Given the description of an element on the screen output the (x, y) to click on. 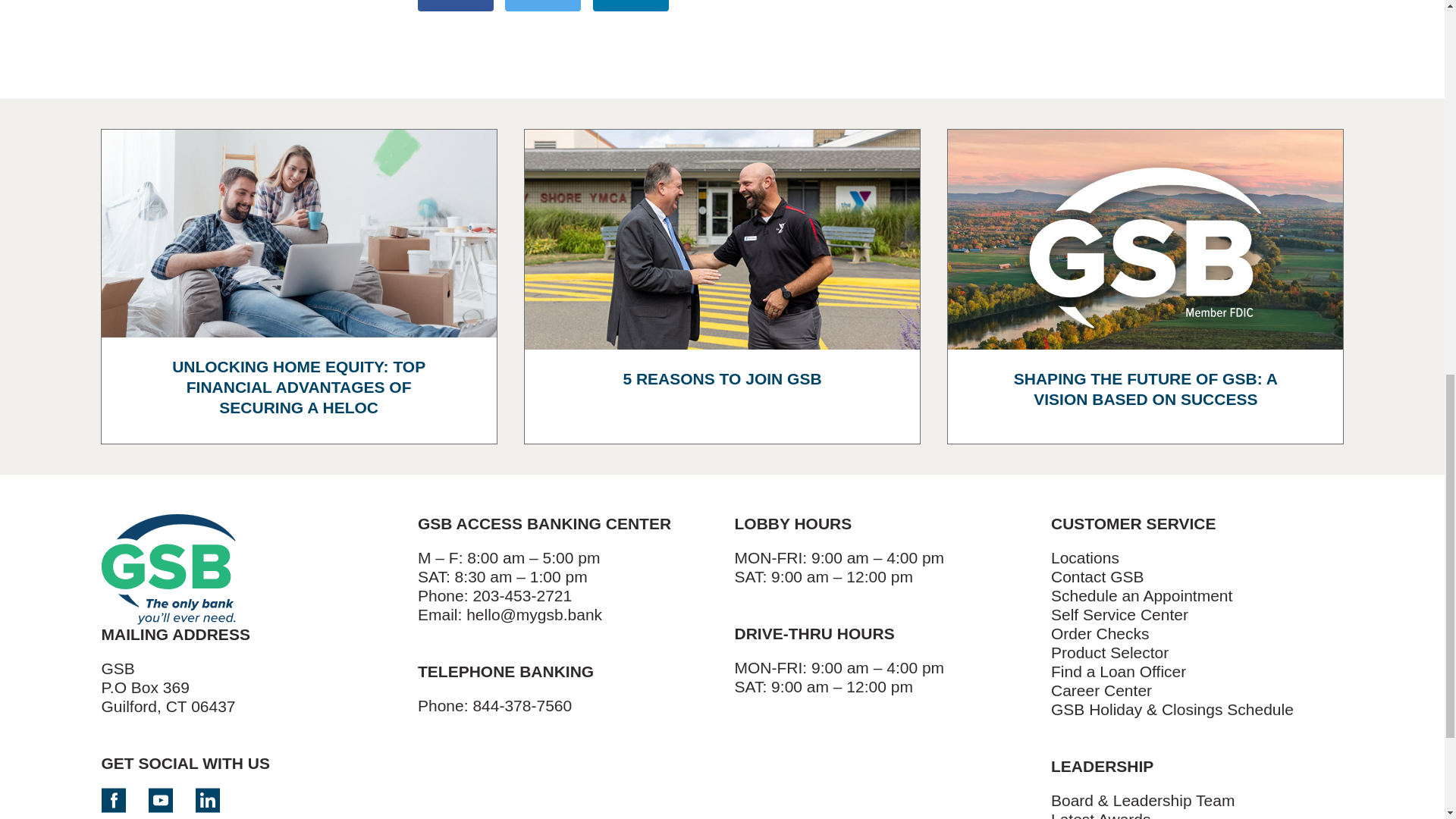
LinkedIn (207, 800)
Facebook (454, 5)
YouTube (160, 800)
Twitter (542, 5)
Linkedin (630, 5)
Facebook (113, 800)
